Given the description of an element on the screen output the (x, y) to click on. 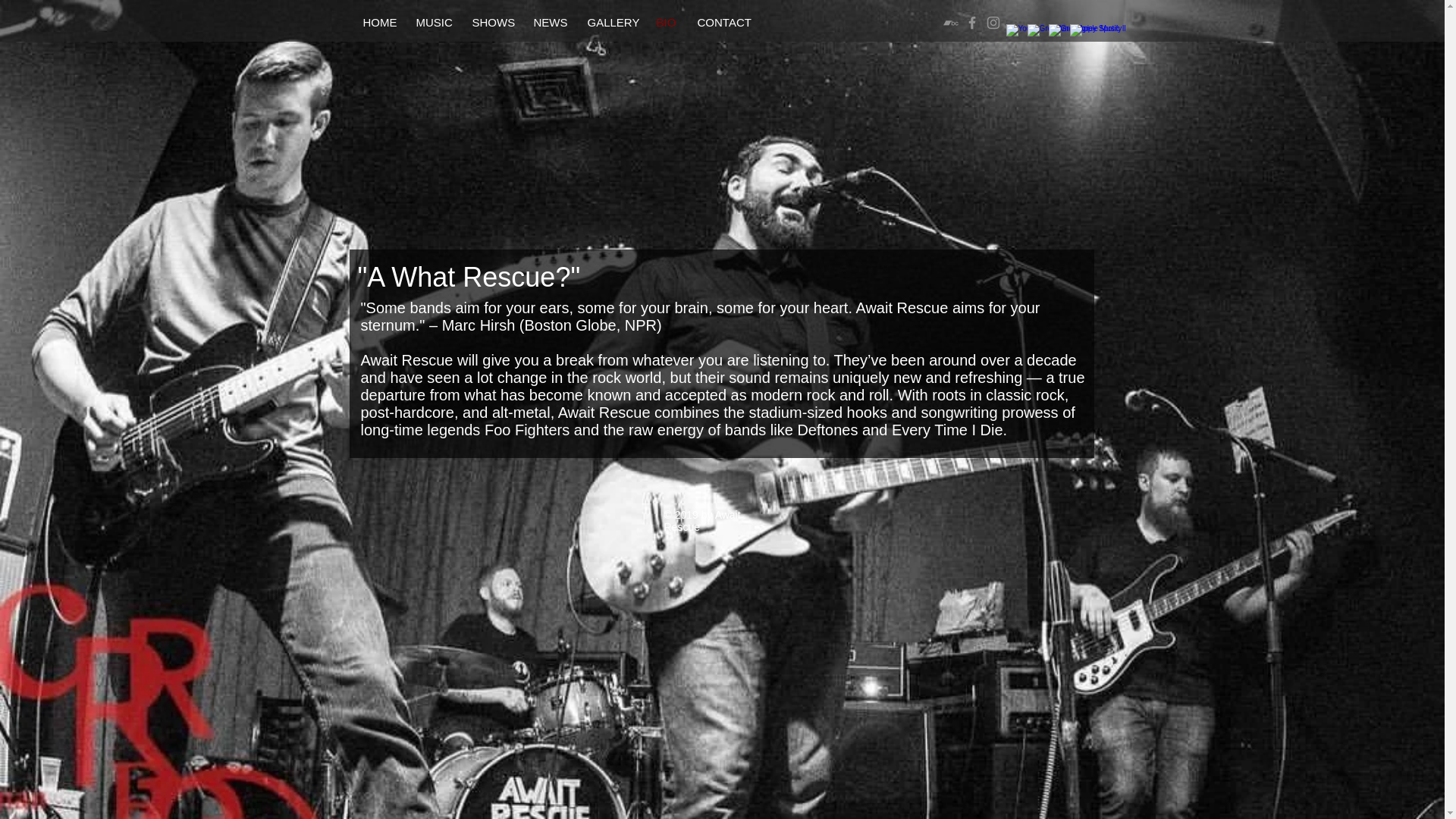
SHOWS (490, 22)
NEWS (548, 22)
HOME (376, 22)
BIO (665, 22)
GALLERY (609, 22)
CONTACT (719, 22)
MUSIC (431, 22)
